Given the description of an element on the screen output the (x, y) to click on. 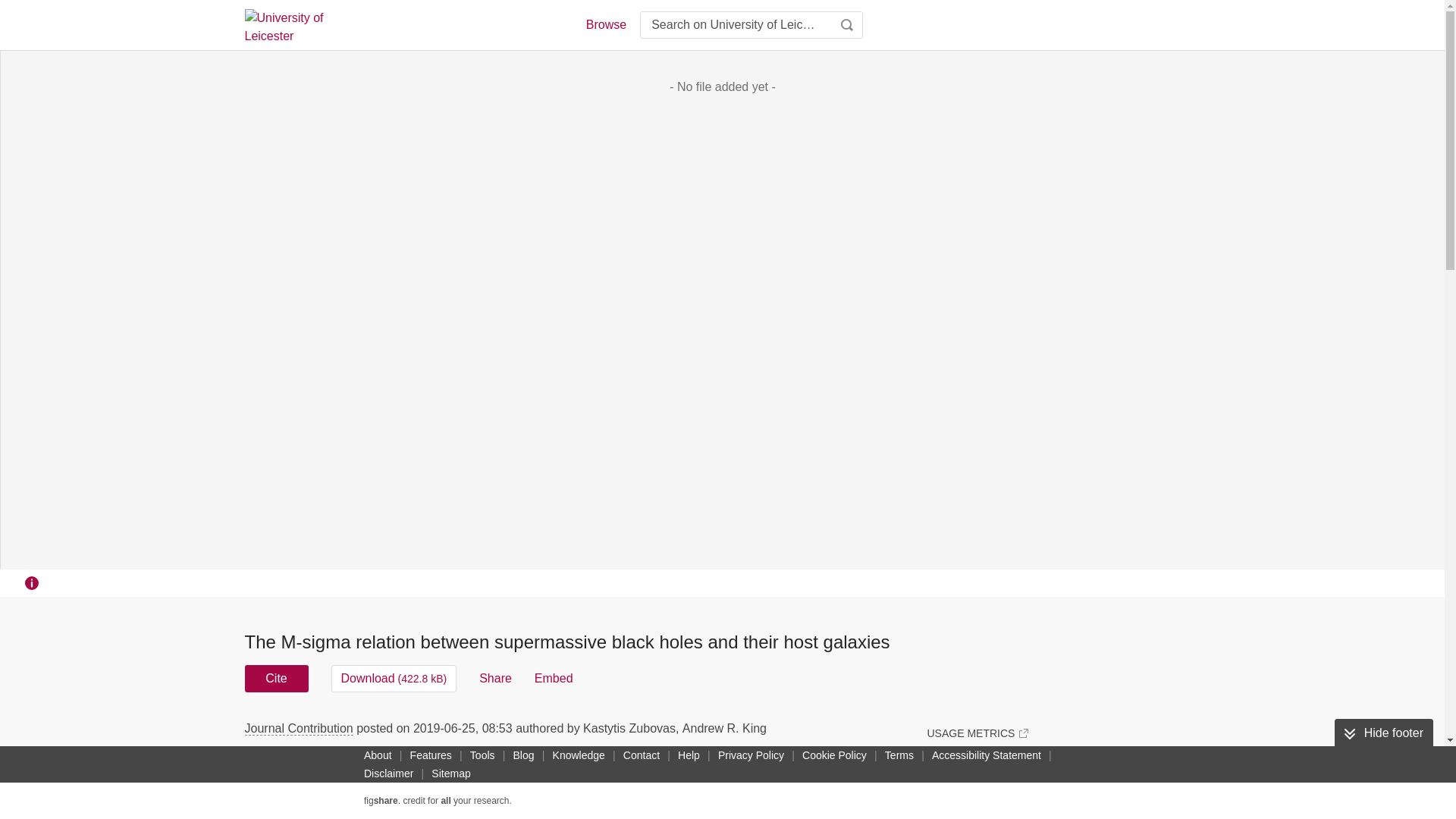
USAGE METRICS (976, 732)
Share (495, 678)
Browse (605, 24)
Cite (275, 678)
Embed (553, 678)
